Given the description of an element on the screen output the (x, y) to click on. 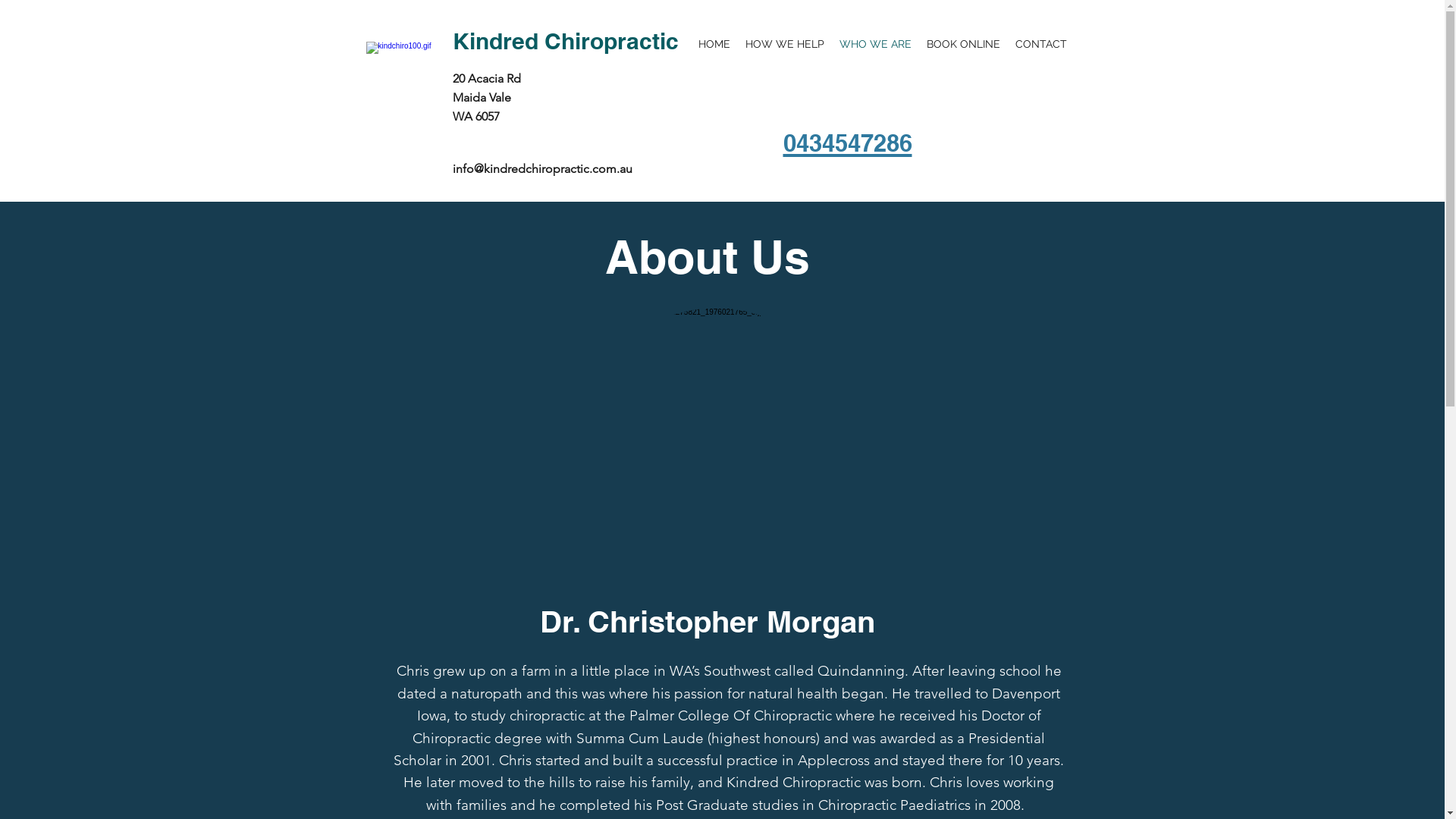
WHO WE ARE Element type: text (874, 43)
0434547286 Element type: text (846, 138)
CONTACT Element type: text (1040, 43)
HOW WE HELP Element type: text (784, 43)
info@kindredchiropractic.com.au Element type: text (541, 168)
BOOK ONLINE Element type: text (963, 43)
HOME Element type: text (713, 43)
